Given the description of an element on the screen output the (x, y) to click on. 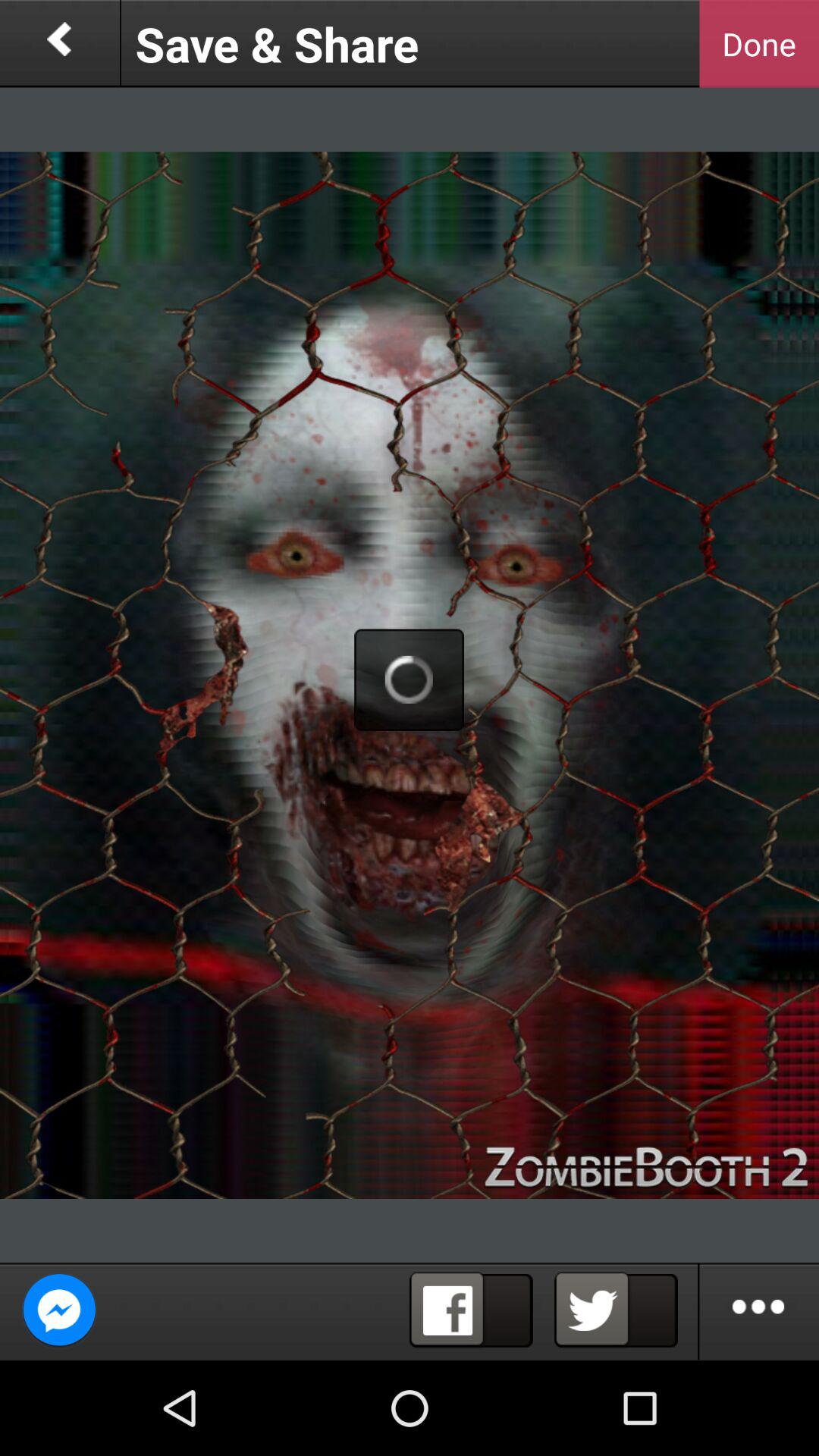
share on facebook (470, 1310)
